Given the description of an element on the screen output the (x, y) to click on. 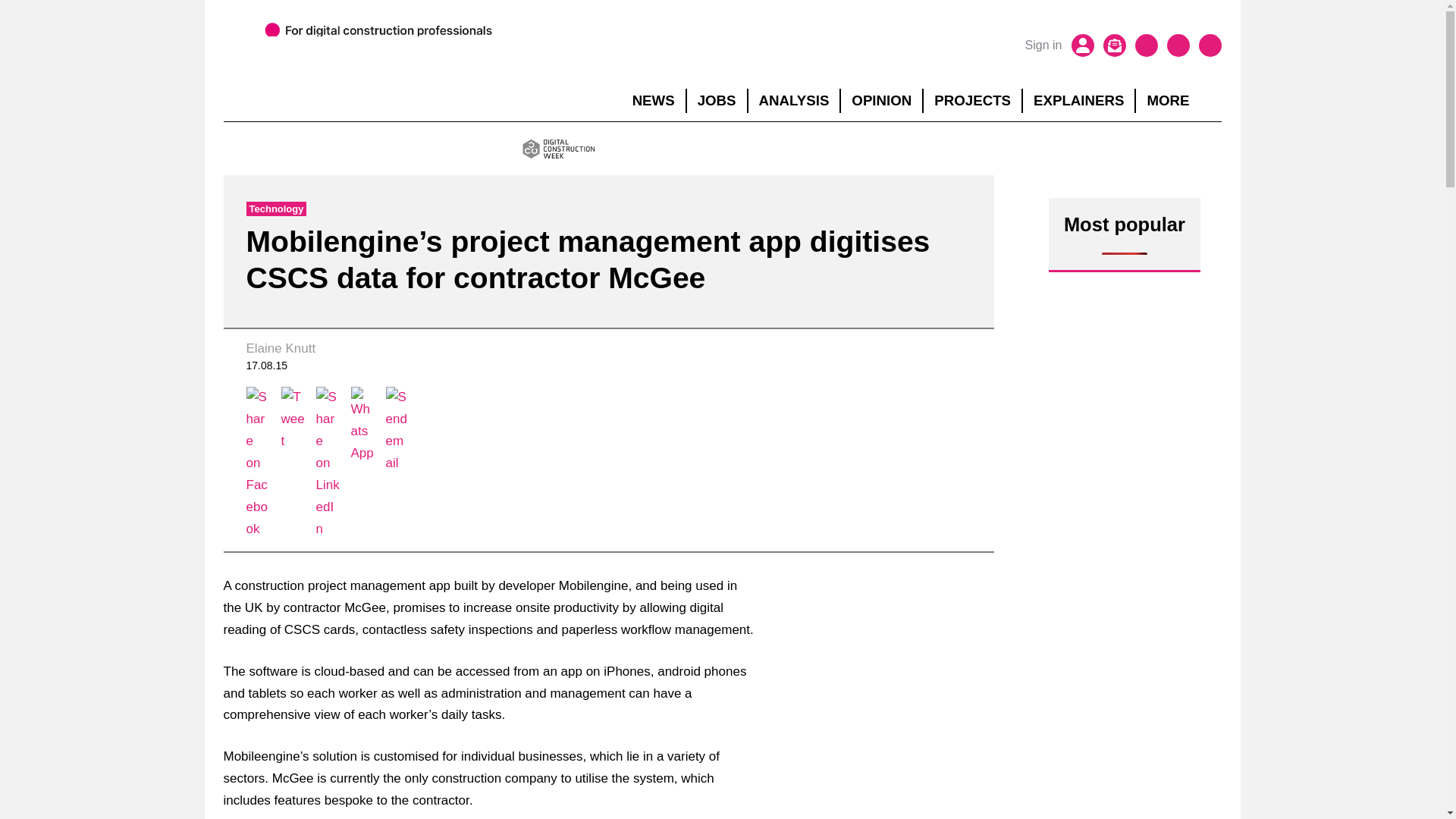
MORE (1178, 100)
OPINION (881, 100)
NEWS (653, 100)
JOBS (716, 100)
PROJECTS (972, 100)
EXPLAINERS (1078, 100)
ANALYSIS (794, 100)
Sign in (1043, 45)
